Given the description of an element on the screen output the (x, y) to click on. 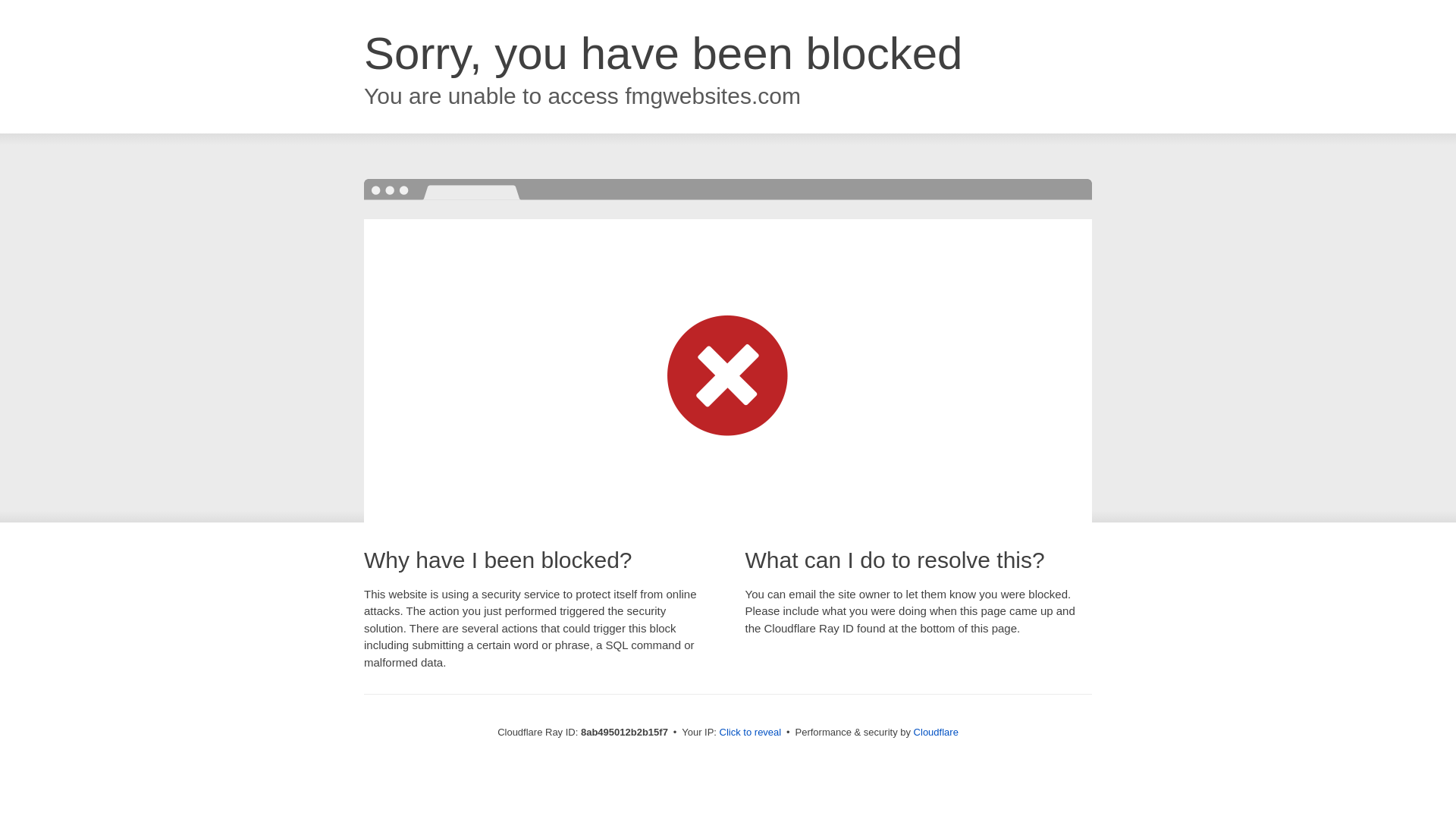
Cloudflare (936, 731)
Click to reveal (750, 732)
